Given the description of an element on the screen output the (x, y) to click on. 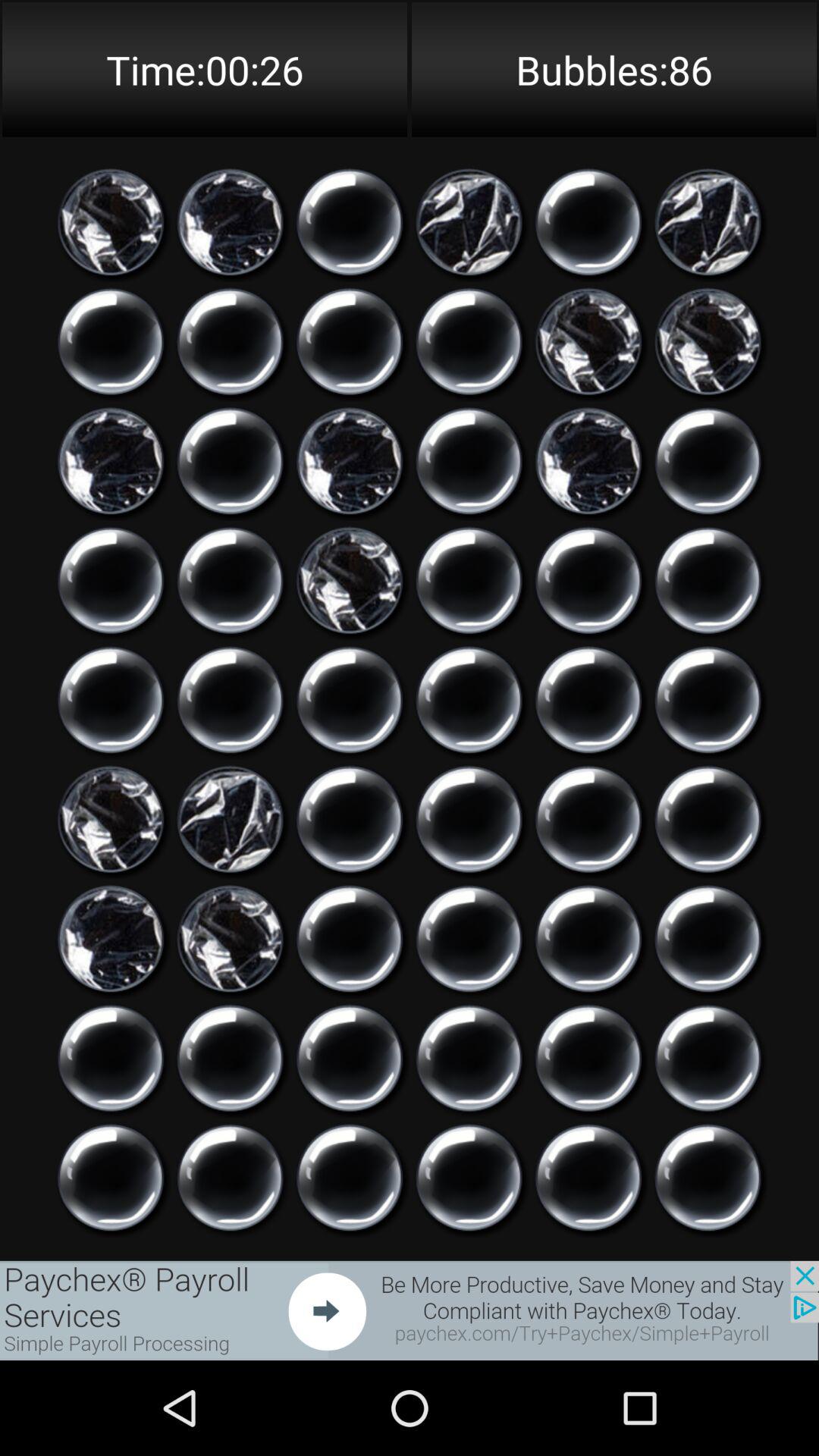
click bubble (349, 341)
